Given the description of an element on the screen output the (x, y) to click on. 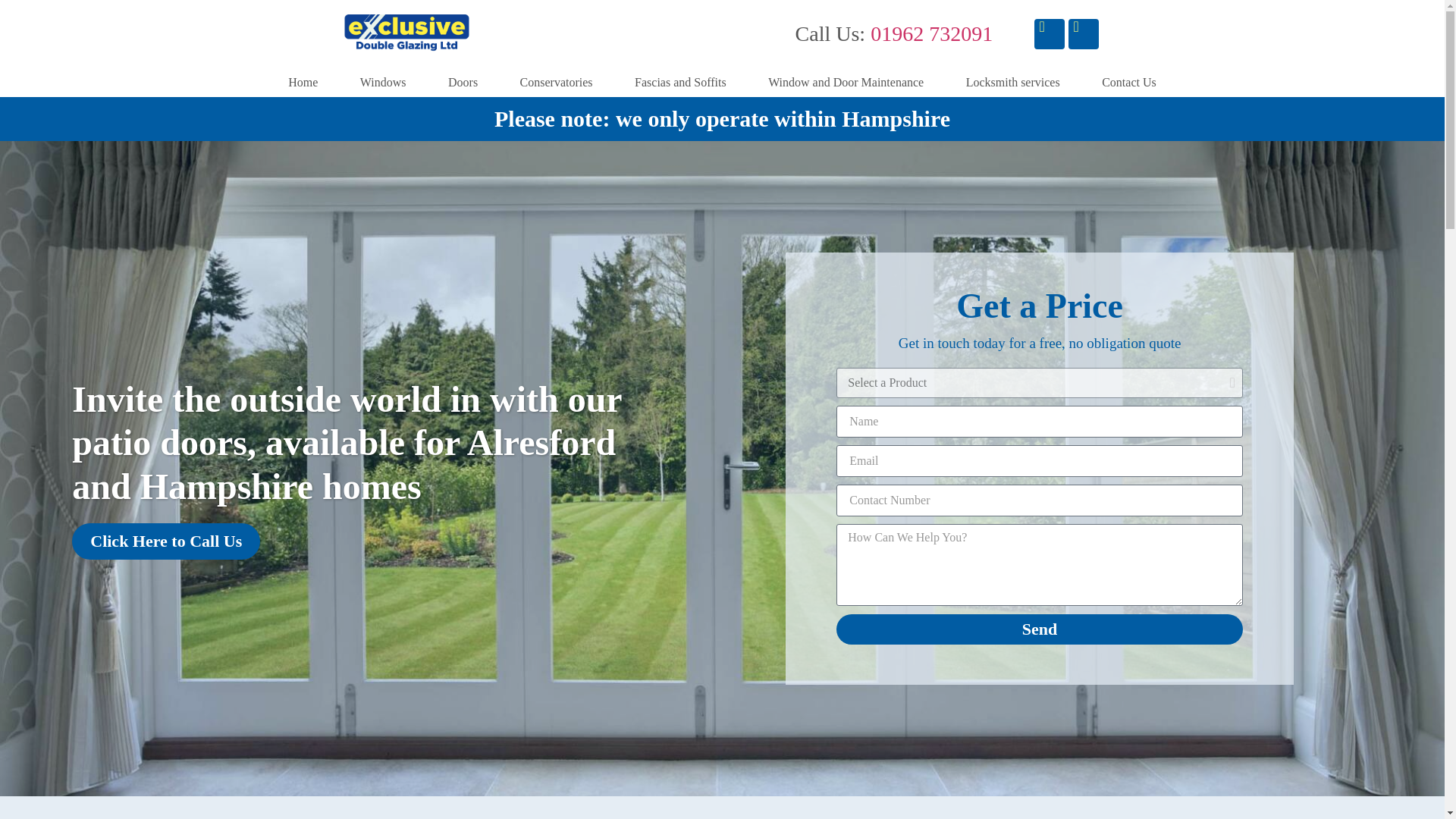
Window and Door Maintenance (845, 82)
Doors (462, 82)
Fascias and Soffits (679, 82)
Contact Us (1128, 82)
Locksmith services (1012, 82)
Conservatories (555, 82)
Home (302, 82)
01962 732091 (931, 33)
Windows (382, 82)
